Given the description of an element on the screen output the (x, y) to click on. 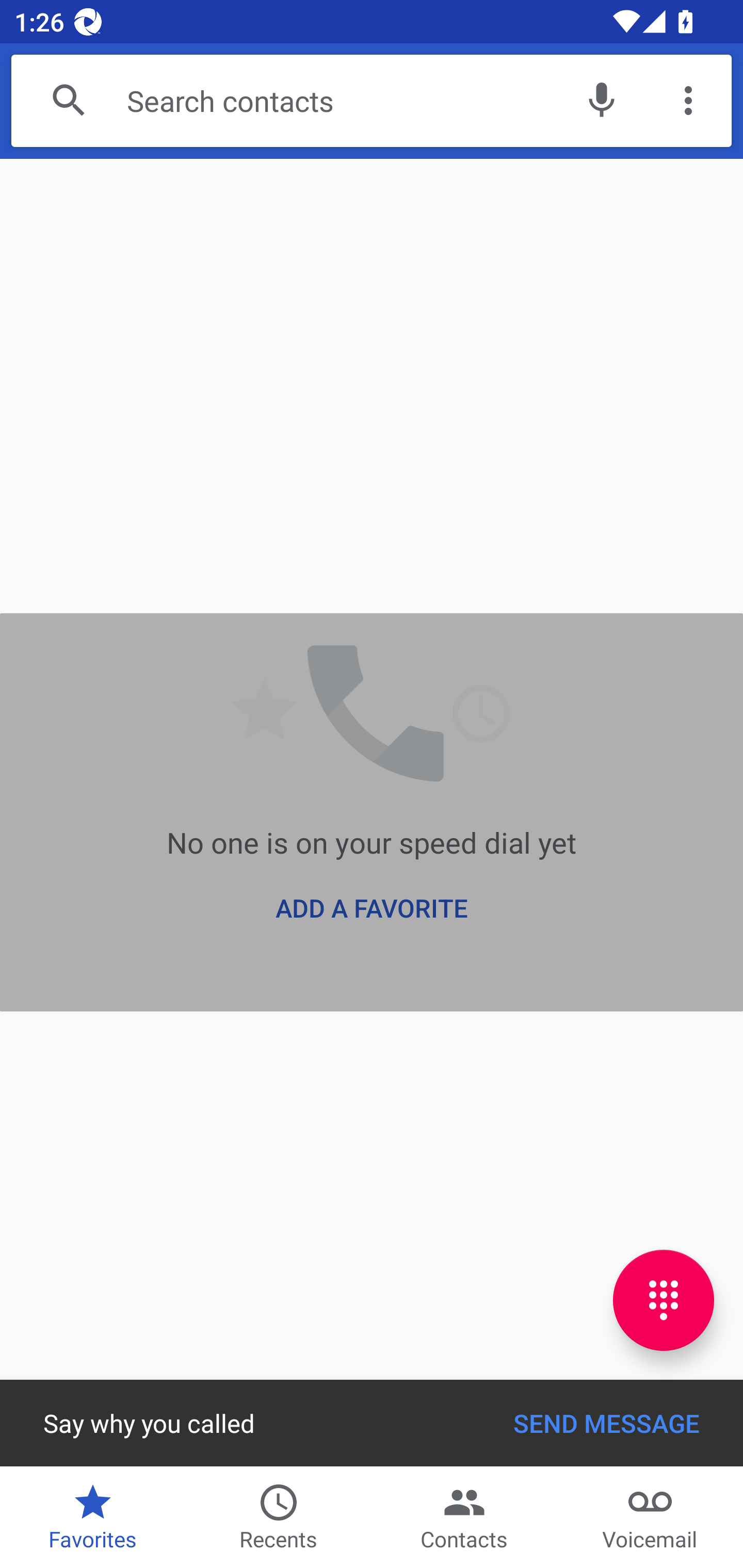
Search contacts Start voice search More options (371, 100)
Start voice search (600, 101)
More options (687, 101)
No one is on your speed dial yet ADD A FAVORITE (371, 812)
ADD A FAVORITE (371, 907)
key pad (663, 1300)
Say why you called SEND MESSAGE (371, 1422)
SEND MESSAGE (606, 1422)
Favorites (92, 1517)
Recents (278, 1517)
Contacts (464, 1517)
Voicemail (650, 1517)
